Given the description of an element on the screen output the (x, y) to click on. 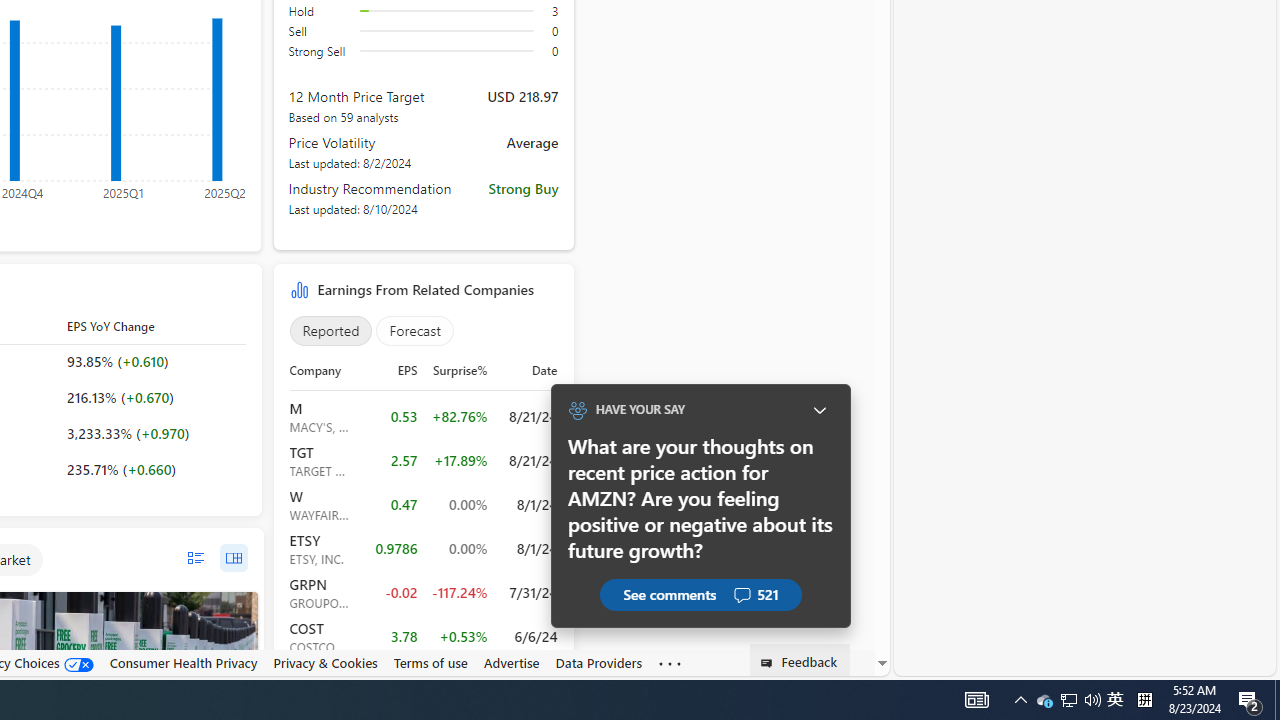
Consumer Health Privacy (183, 663)
Consumer Health Privacy (183, 662)
Terms of use (430, 663)
list layout (194, 557)
Class: oneFooter_seeMore-DS-EntryPoint1-1 (669, 663)
Forecast (415, 331)
Data Providers (598, 663)
